Given the description of an element on the screen output the (x, y) to click on. 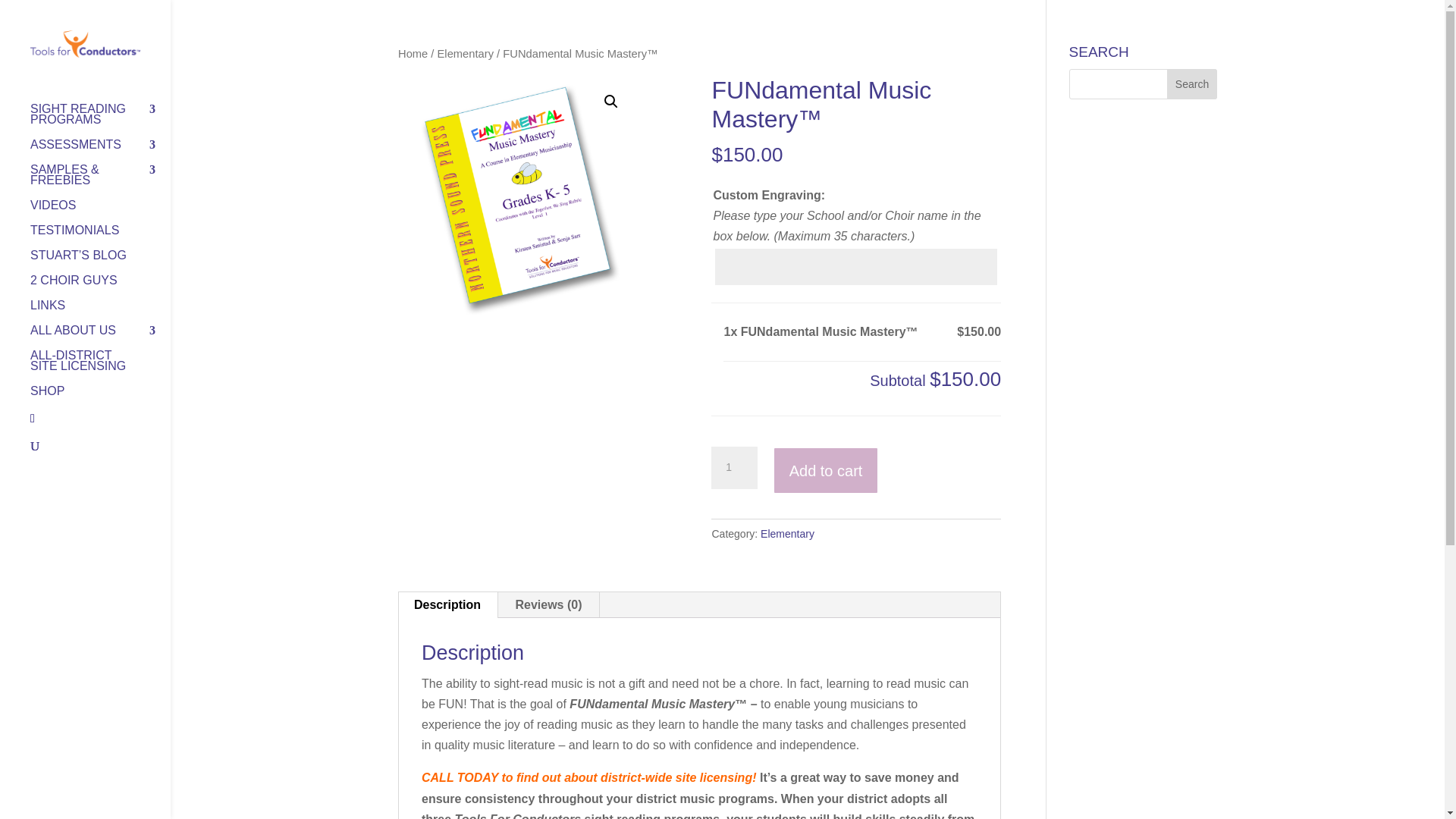
1 (734, 467)
FMM (517, 195)
ALL-DISTRICT SITE LICENSING (100, 367)
SHOP (100, 398)
SIGHT READING PROGRAMS (100, 121)
Qty (734, 467)
2 CHOIR GUYS (100, 287)
Search (1192, 83)
VIDEOS (100, 212)
TESTIMONIALS (100, 237)
ALL ABOUT US (100, 337)
LINKS (100, 312)
ASSESSMENTS (100, 151)
